Given the description of an element on the screen output the (x, y) to click on. 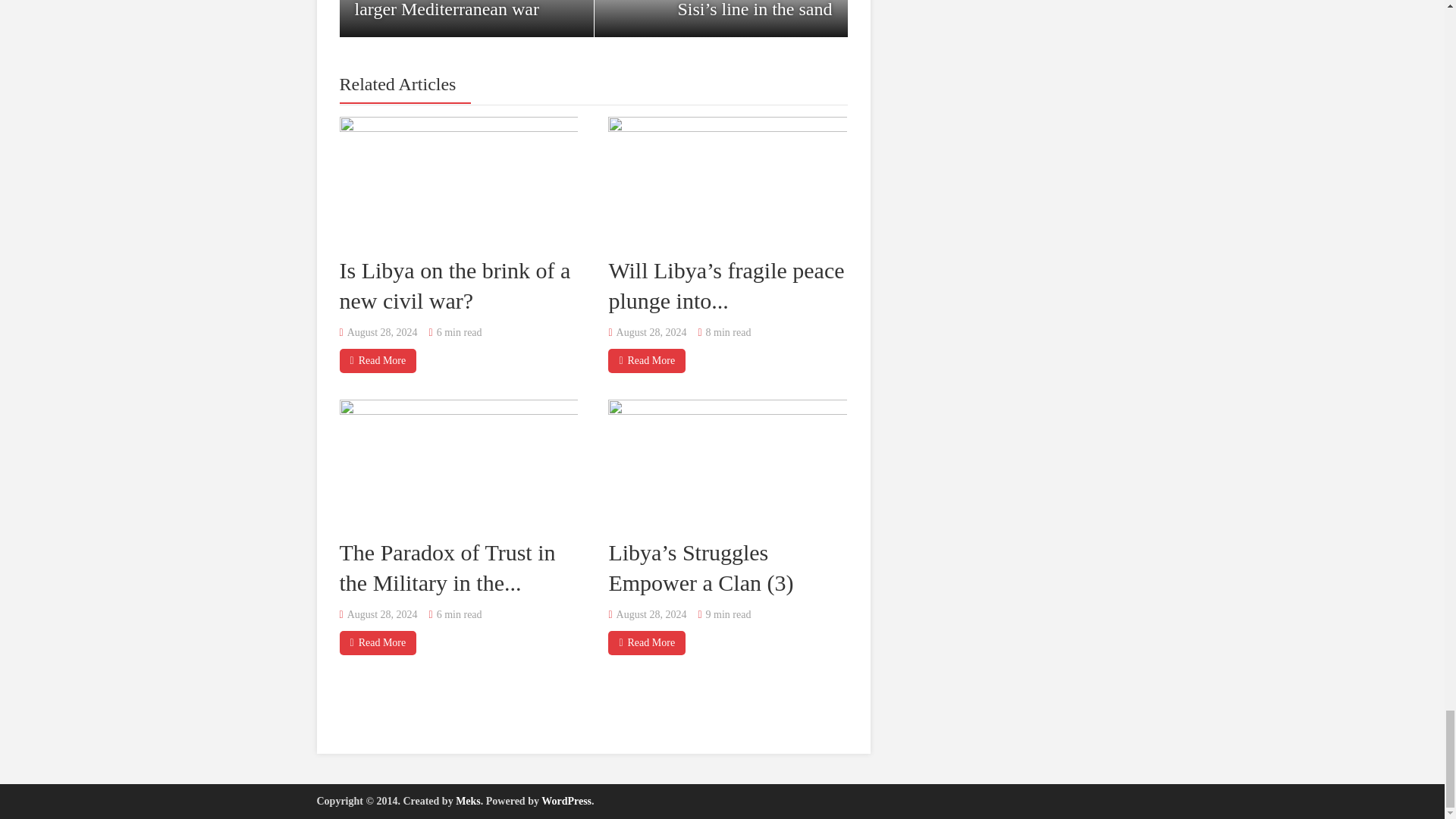
Read More (377, 642)
Read More (646, 360)
Is Libya on the brink of a new civil war? (454, 284)
The Paradox of Trust in the Military in the... (447, 567)
Read More (646, 642)
Read More (377, 360)
